Given the description of an element on the screen output the (x, y) to click on. 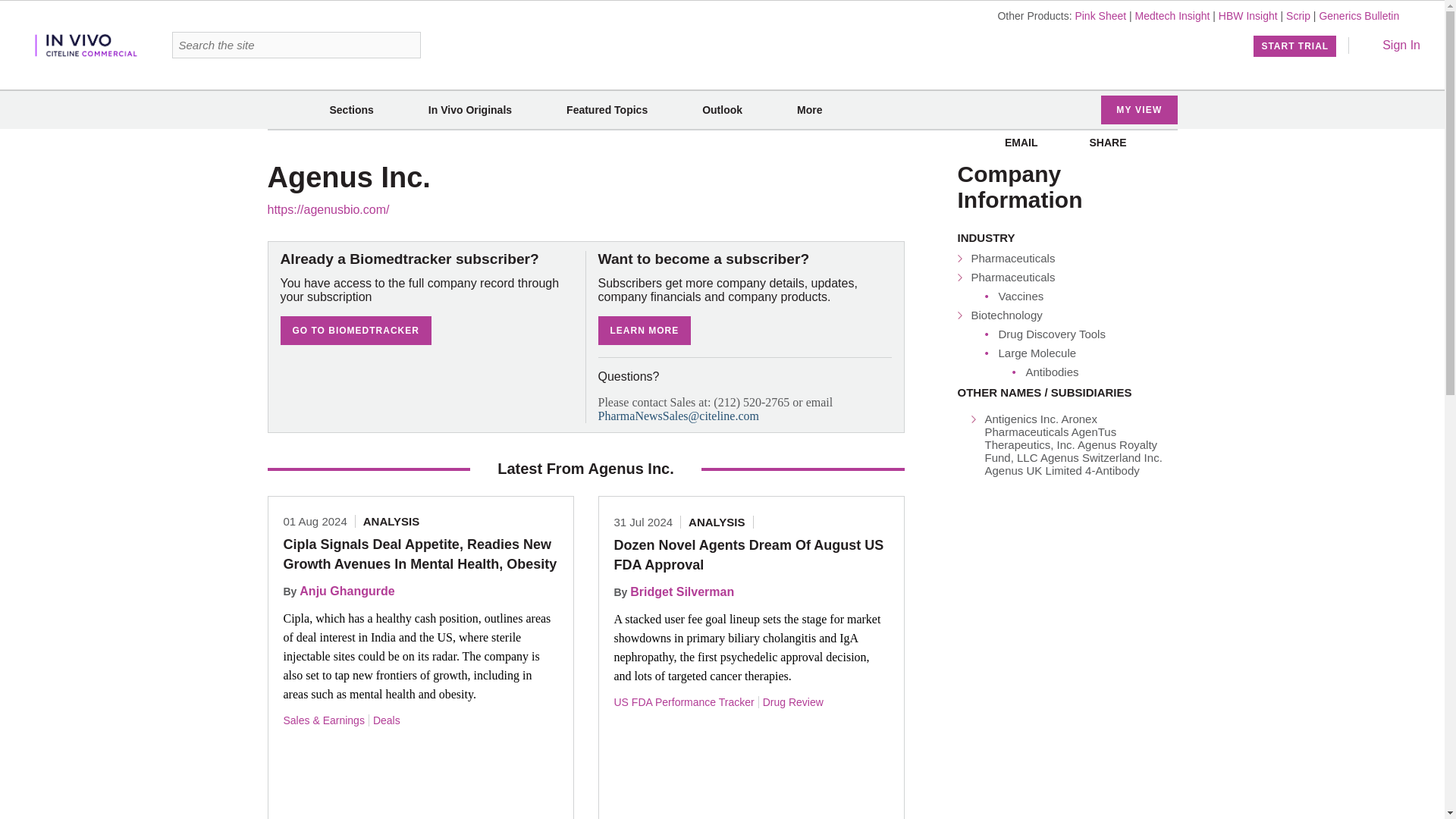
Outlook (721, 110)
Pink Sheet (1099, 15)
Generics Bulletin (1359, 15)
HBW Insight (1248, 15)
Medtech Insight (1172, 15)
START TRIAL (1294, 46)
Scrip (1297, 15)
Sign In (1391, 44)
